Given the description of an element on the screen output the (x, y) to click on. 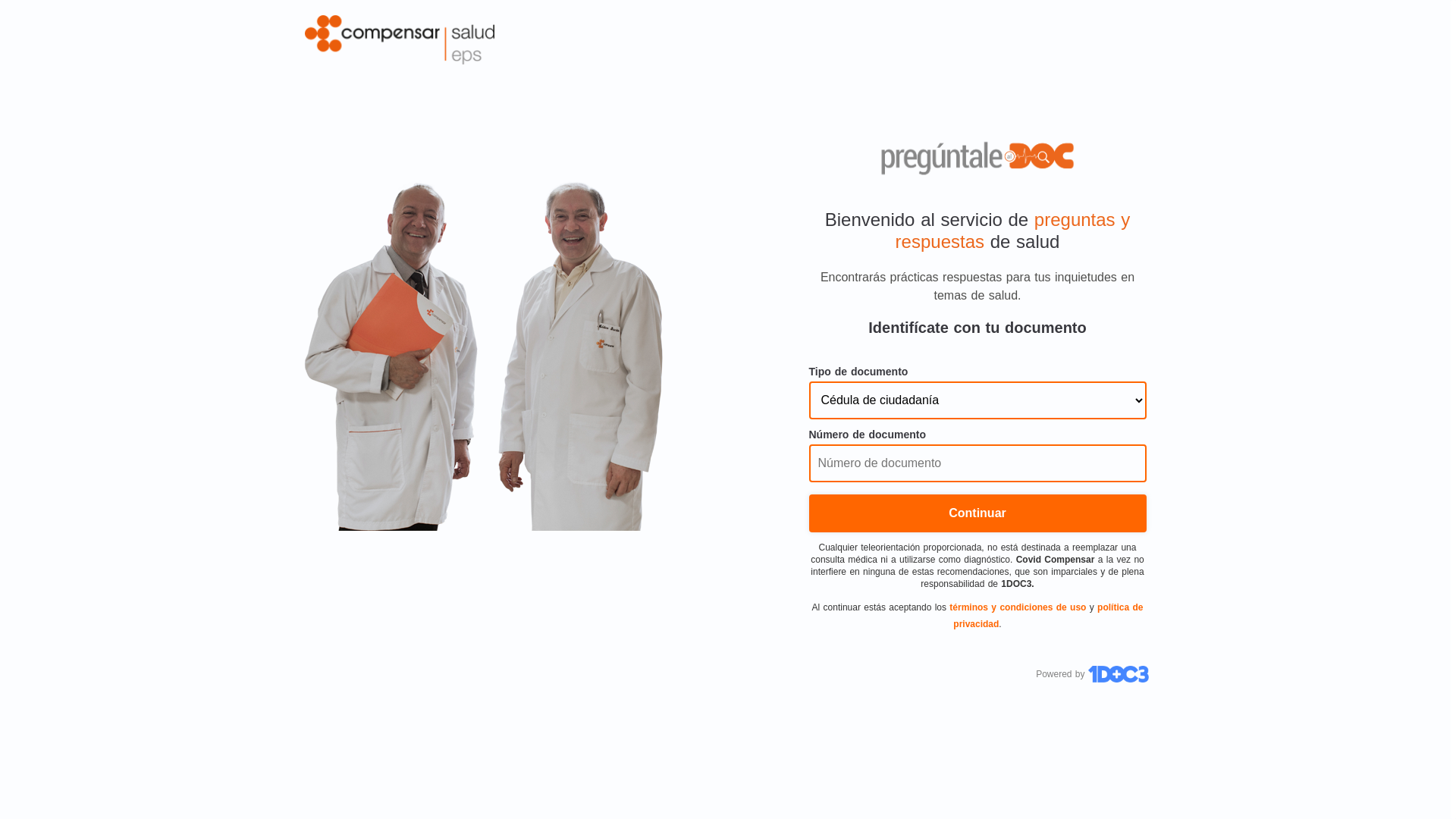
Continuar Element type: text (976, 513)
